Given the description of an element on the screen output the (x, y) to click on. 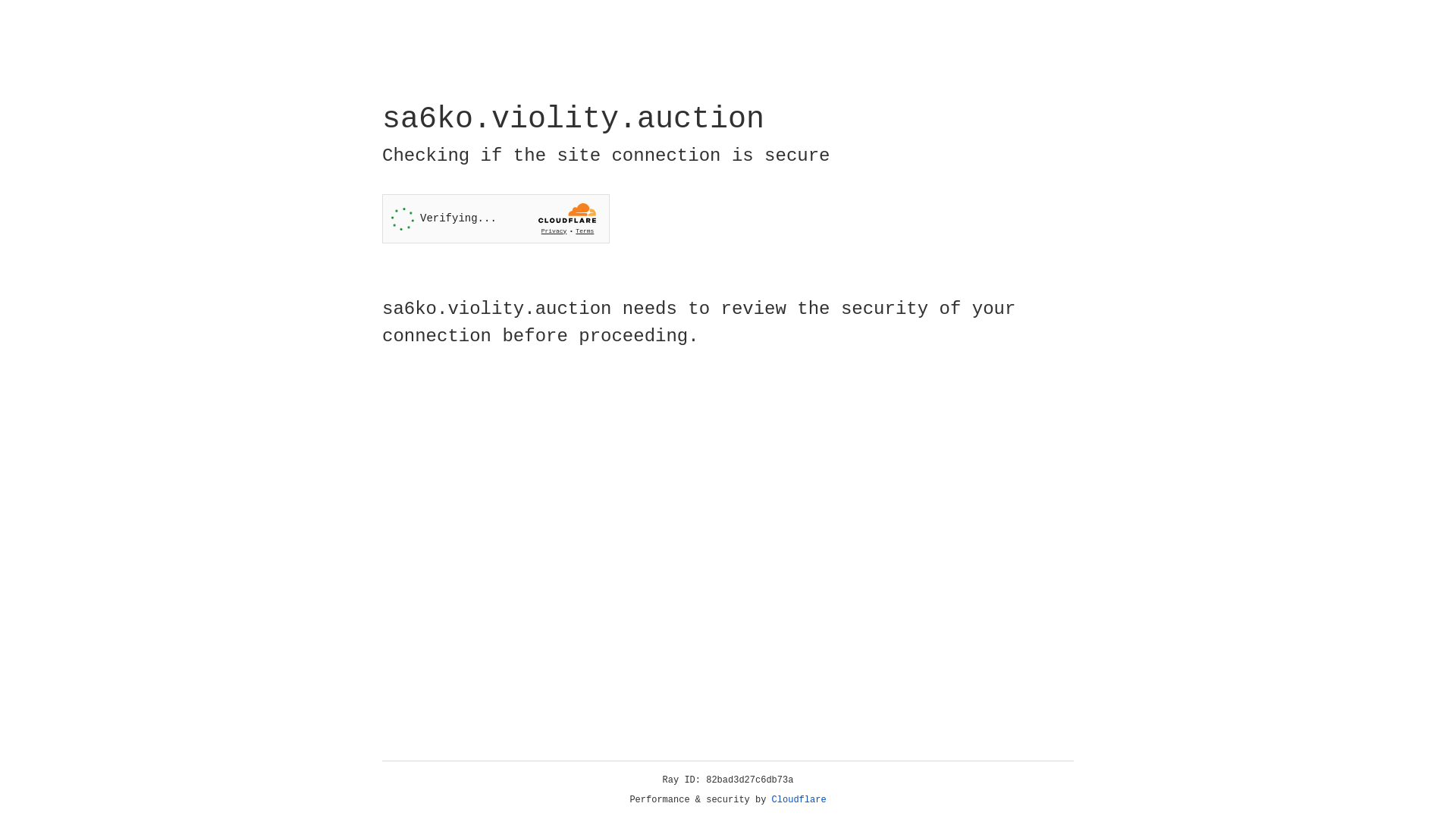
Widget containing a Cloudflare security challenge Element type: hover (495, 218)
Cloudflare Element type: text (798, 799)
